Given the description of an element on the screen output the (x, y) to click on. 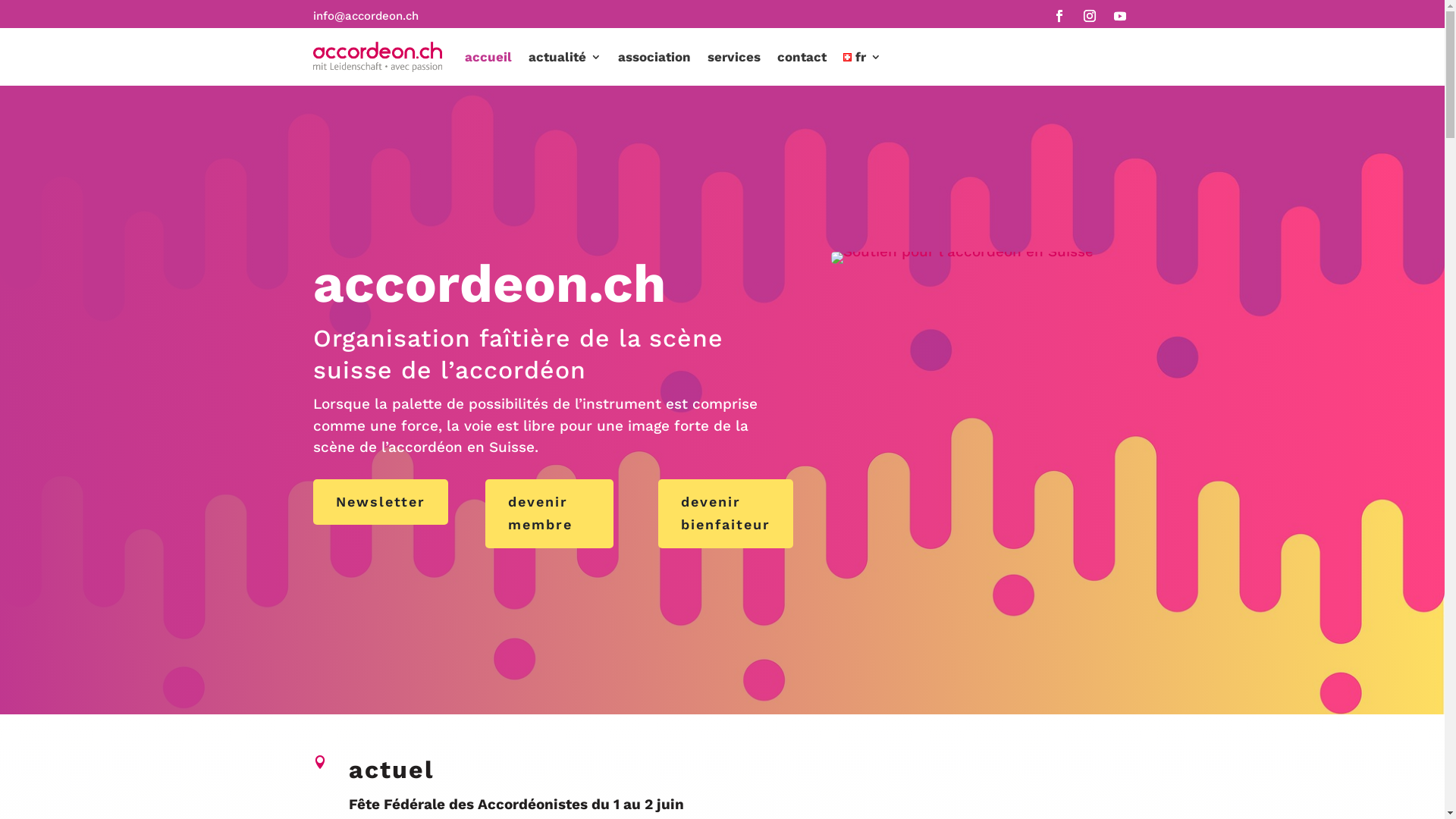
fr Element type: text (862, 56)
devenir bienfaiteur Element type: text (725, 513)
contact Element type: text (800, 56)
devenir membre Element type: text (548, 513)
accueil Element type: text (487, 56)
services Element type: text (732, 56)
Suivez sur Instagram Element type: hover (1088, 15)
Newsletter Element type: text (379, 502)
Suivez sur Youtube Element type: hover (1119, 15)
Suivez sur Facebook Element type: hover (1058, 15)
info@accordeon.ch Element type: text (364, 15)
association Element type: text (653, 56)
Bildschirmfoto 2022-07-28 um 16.19.43 Element type: hover (962, 257)
